Given the description of an element on the screen output the (x, y) to click on. 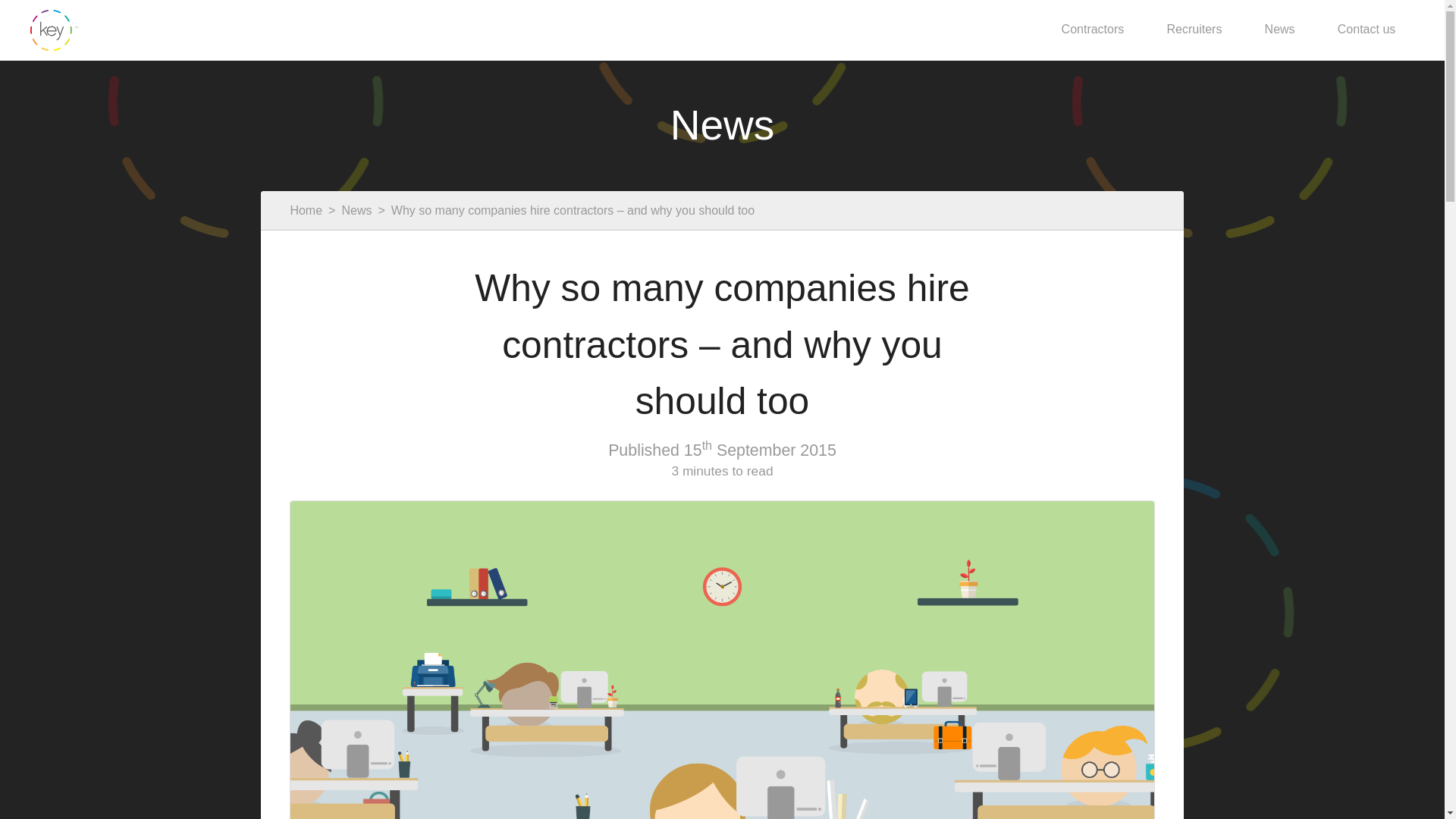
News (355, 209)
Contractors (1092, 29)
Home (305, 209)
News (1279, 29)
Contact us (1366, 29)
Recruiters (1194, 29)
